Given the description of an element on the screen output the (x, y) to click on. 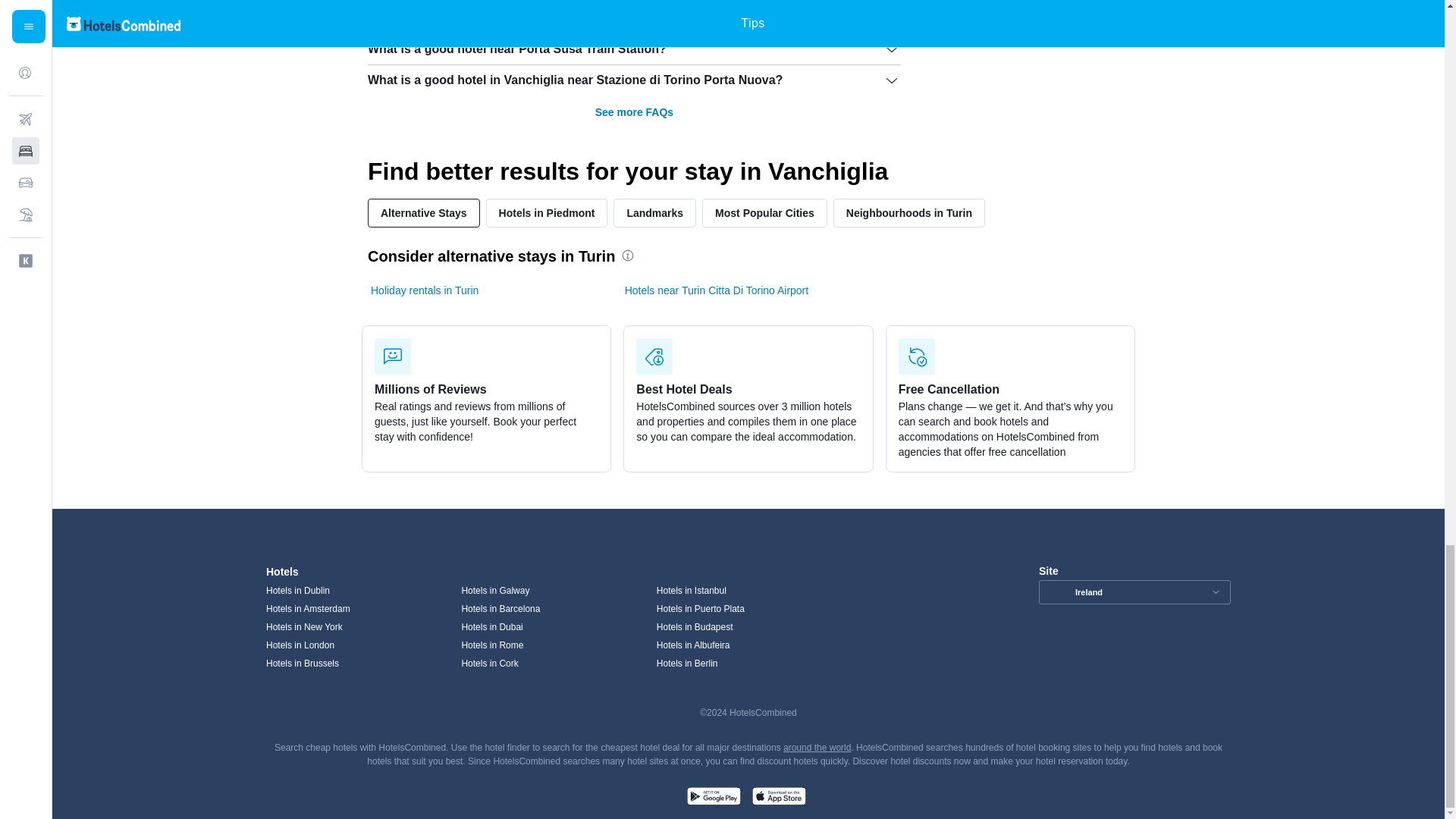
Neighbourhoods in Turin (908, 213)
Hotels near Turin Citta Di Torino Airport (716, 290)
Most Popular Cities (764, 213)
Alternative Stays (424, 213)
Holiday rentals in Turin (425, 290)
Hotels in Piedmont (547, 213)
Landmarks (653, 213)
Get it on Google Play (713, 797)
Download on the App Store (778, 797)
